Given the description of an element on the screen output the (x, y) to click on. 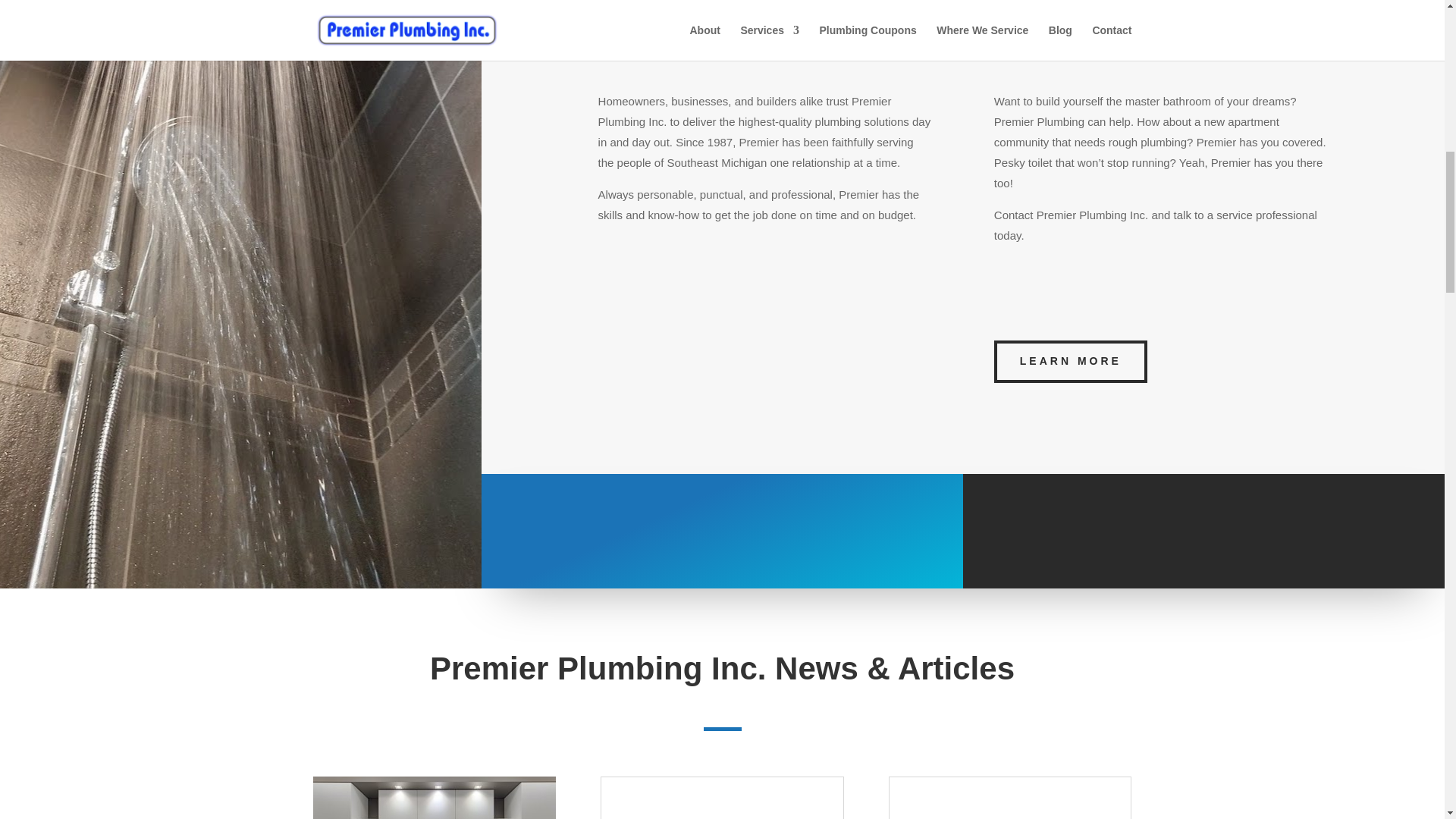
LEARN MORE (1070, 361)
